Given the description of an element on the screen output the (x, y) to click on. 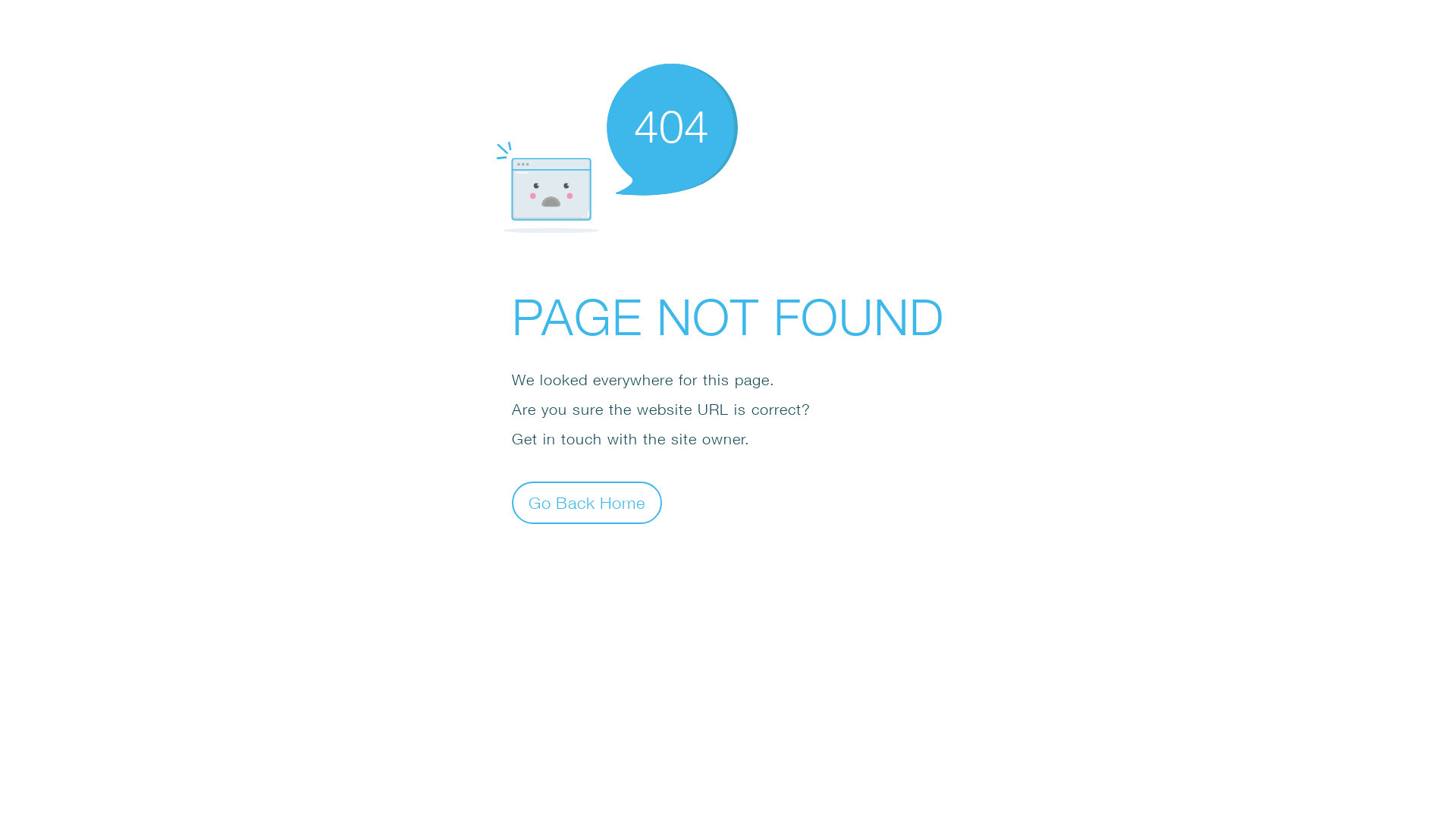
Go Back Home Element type: text (586, 502)
